Given the description of an element on the screen output the (x, y) to click on. 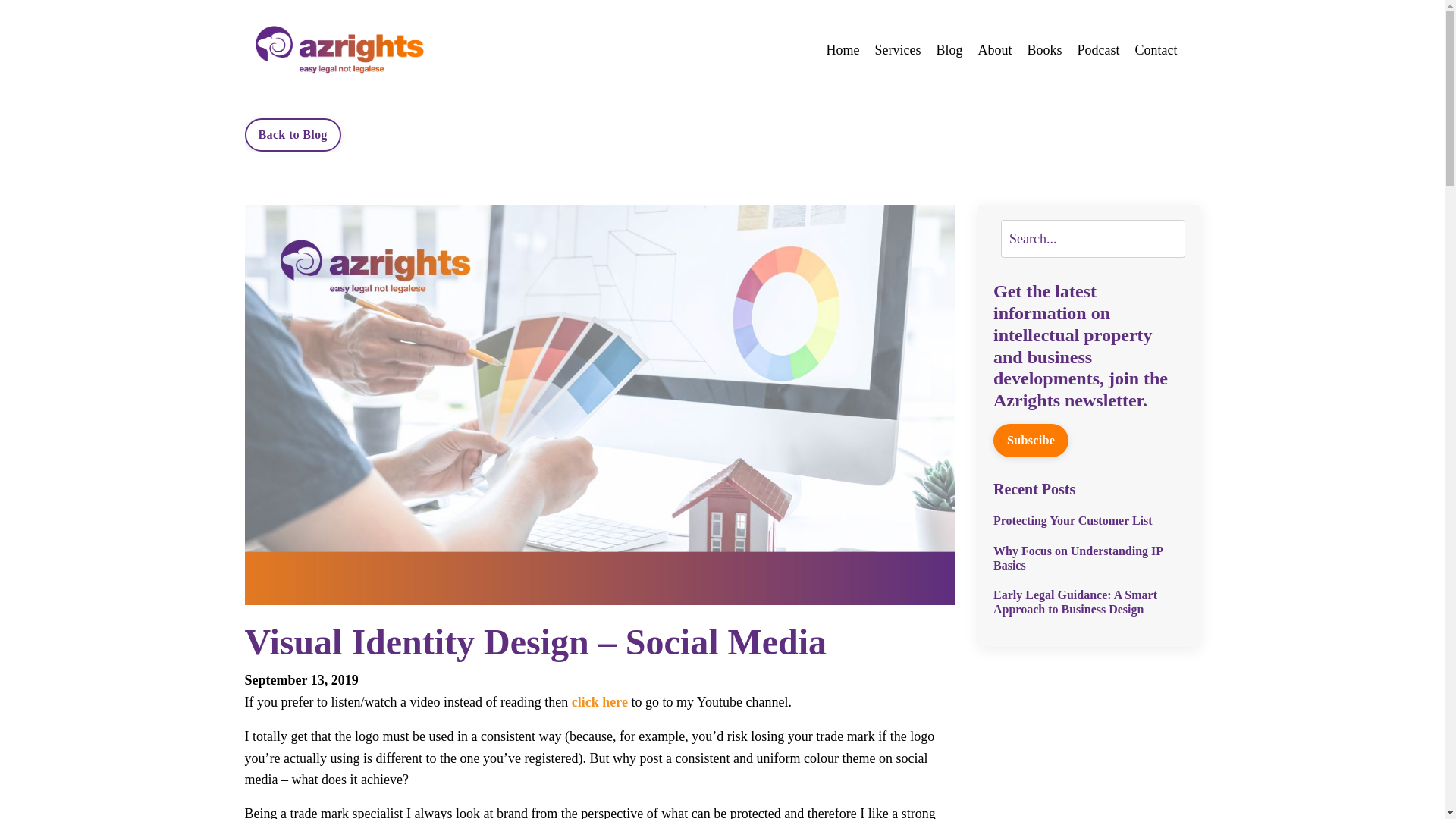
Protecting Your Customer List (1088, 520)
Podcast (1098, 50)
Back to Blog (292, 134)
Books (1043, 50)
Subscibe (1030, 440)
About (993, 50)
Services (897, 50)
Blog (949, 50)
Why Focus on Understanding IP Basics (1088, 557)
Contact (1155, 50)
Home (842, 50)
click here (599, 702)
Early Legal Guidance: A Smart Approach to Business Design (1088, 602)
